Given the description of an element on the screen output the (x, y) to click on. 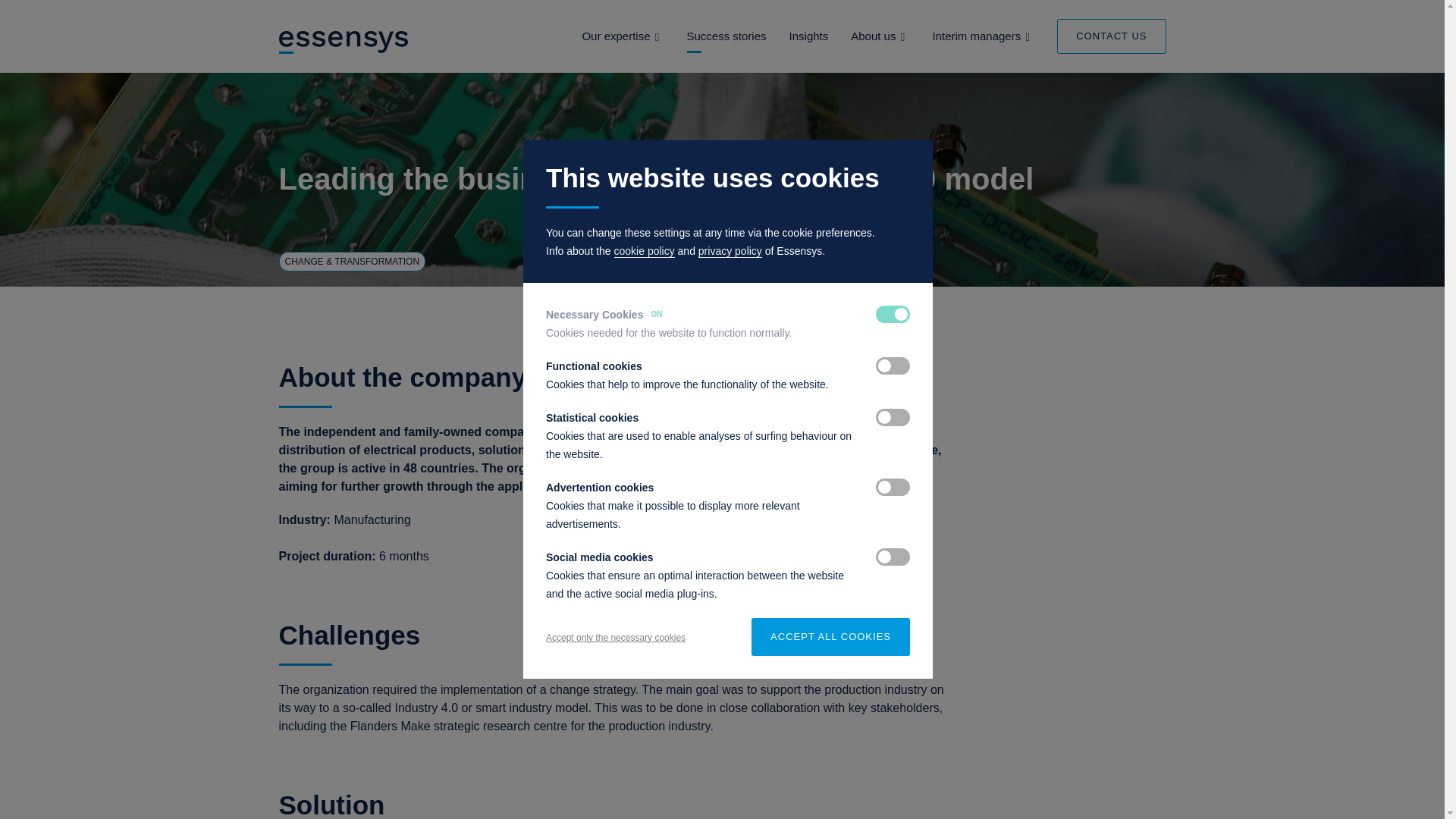
privacy policy (729, 250)
cookie policy (644, 250)
ACCEPT ALL COOKIES (830, 637)
Accept only the necessary cookies (615, 637)
Success stories (727, 35)
Insights (808, 35)
CONTACT US (1111, 36)
About us (872, 35)
Home (344, 41)
Our expertise (614, 35)
